Given the description of an element on the screen output the (x, y) to click on. 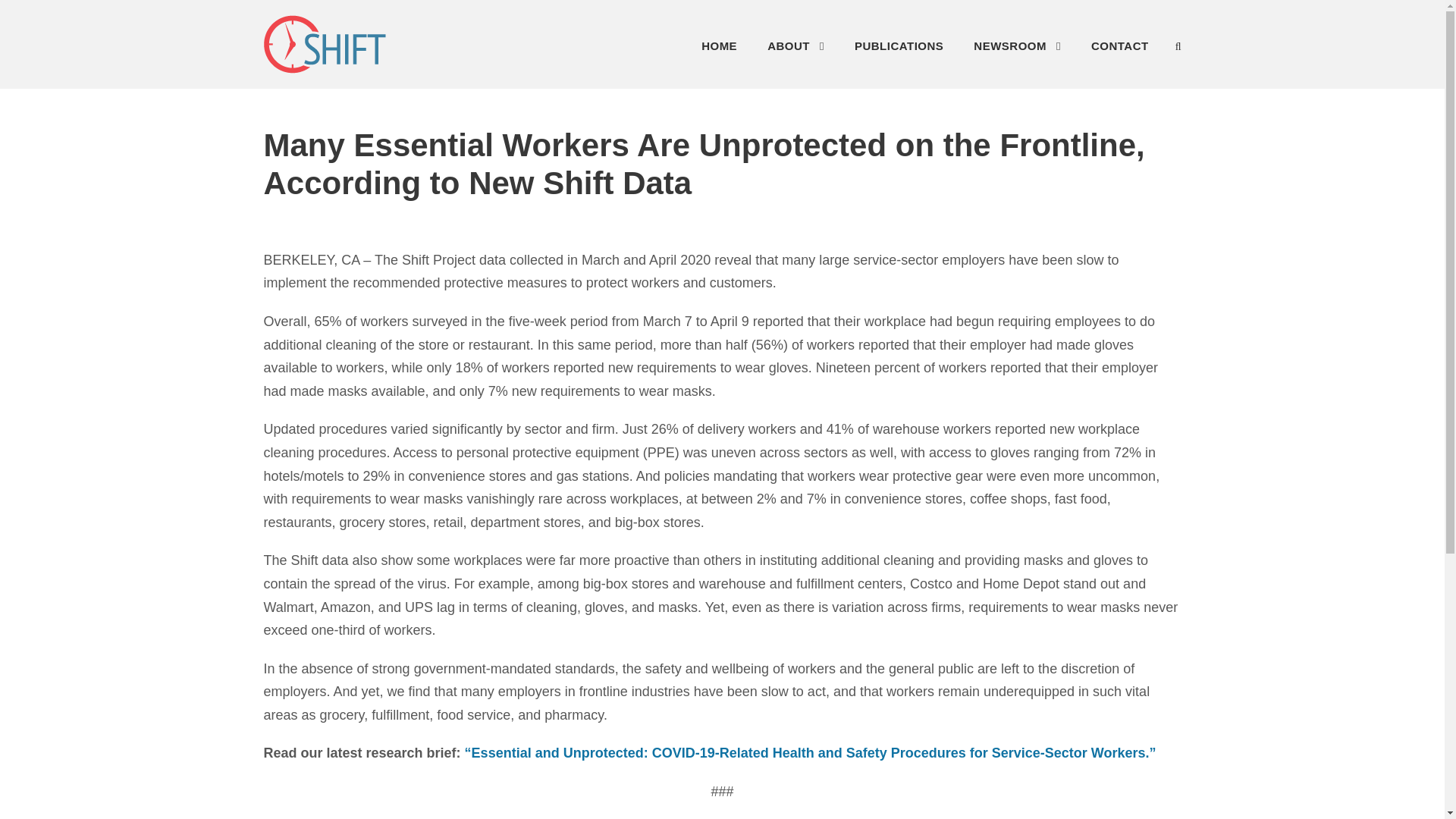
NEWSROOM (1017, 50)
ABOUT (795, 50)
HOME (718, 50)
CONTACT (1119, 50)
PUBLICATIONS (898, 50)
